Given the description of an element on the screen output the (x, y) to click on. 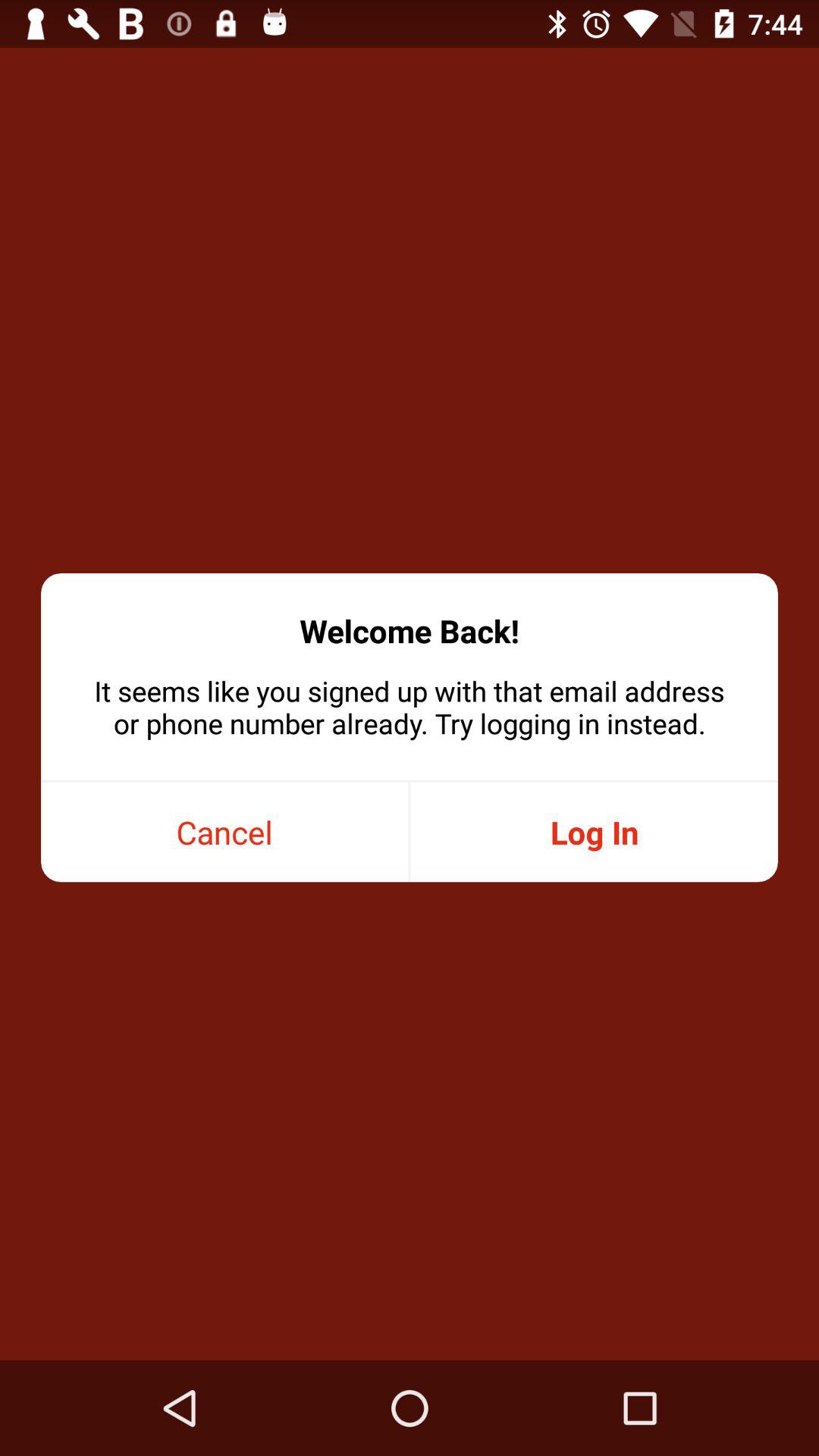
tap icon on the left (224, 832)
